Given the description of an element on the screen output the (x, y) to click on. 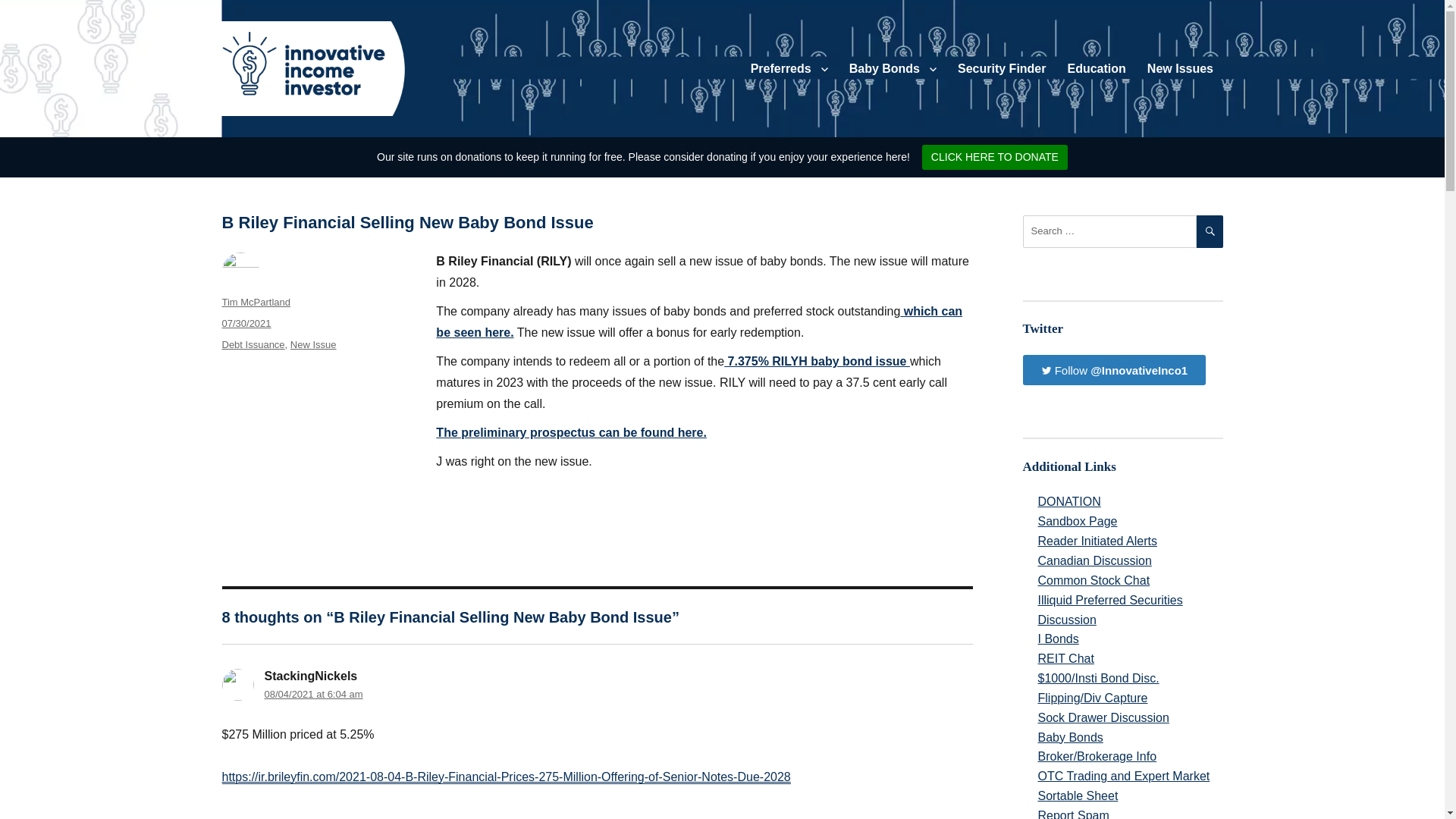
Security Finder (1002, 69)
Debt Issuance (252, 344)
Education (1097, 69)
Preferreds (788, 69)
CLICK HERE TO DONATE (994, 156)
The preliminary prospectus can be found here. (570, 431)
which can be seen here. (698, 321)
Tim McPartland (255, 301)
New Issues (1180, 69)
Baby Bonds (892, 69)
